Given the description of an element on the screen output the (x, y) to click on. 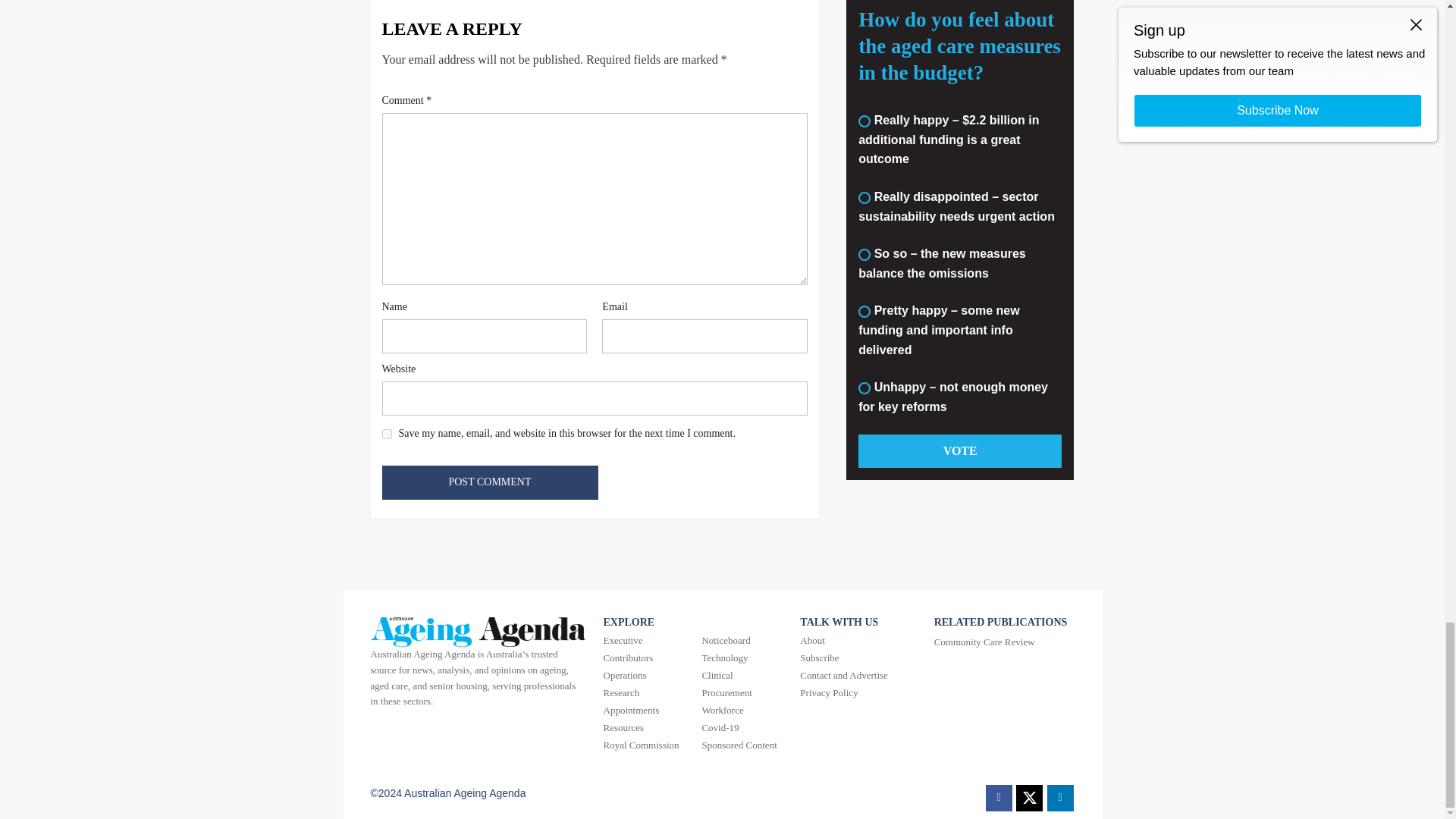
Post Comment (489, 482)
yes (386, 433)
